Given the description of an element on the screen output the (x, y) to click on. 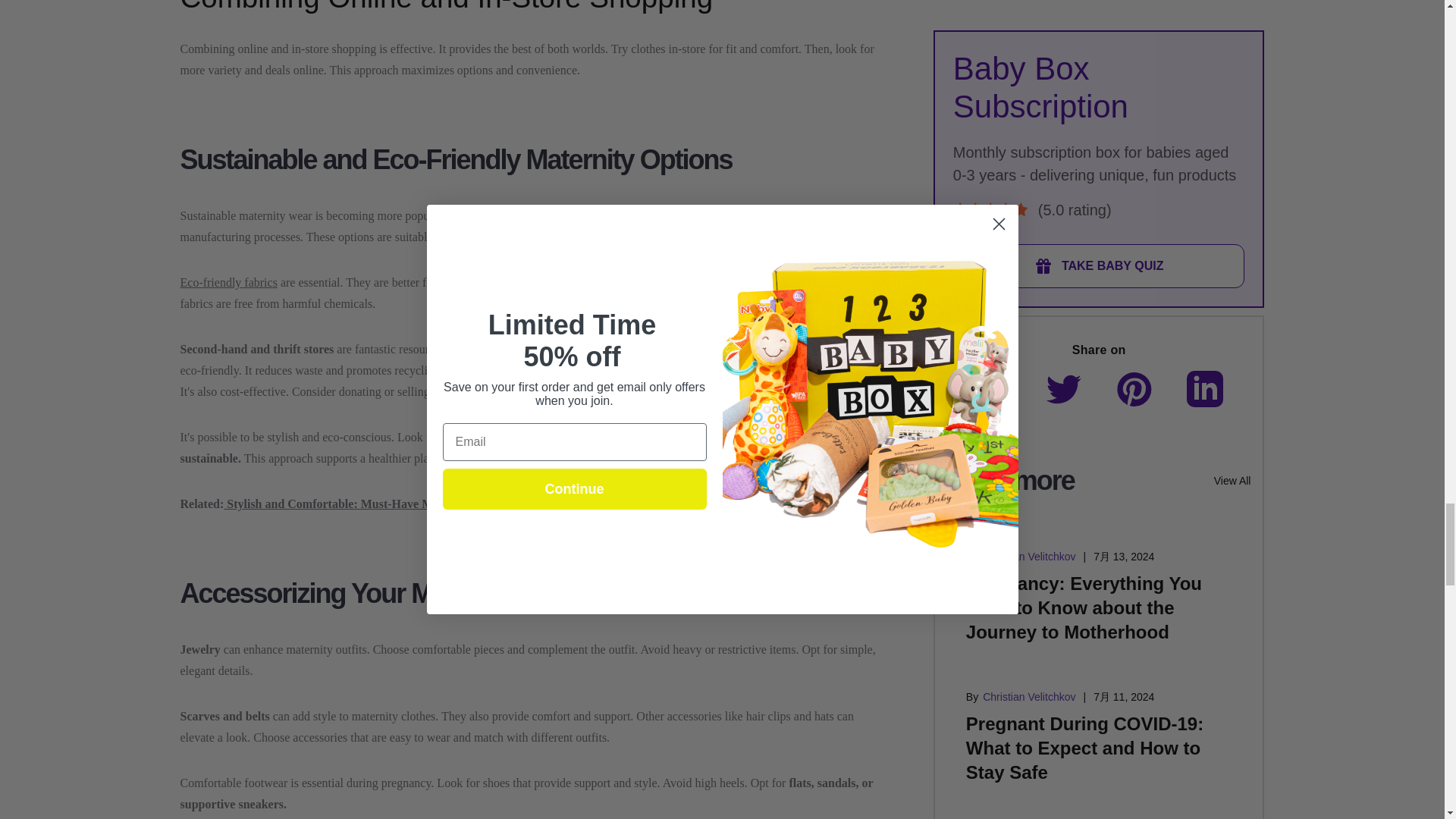
Stylish and Comfortable: Must-Have Maternity Items (364, 503)
Eco-friendly fabrics (229, 282)
